Given the description of an element on the screen output the (x, y) to click on. 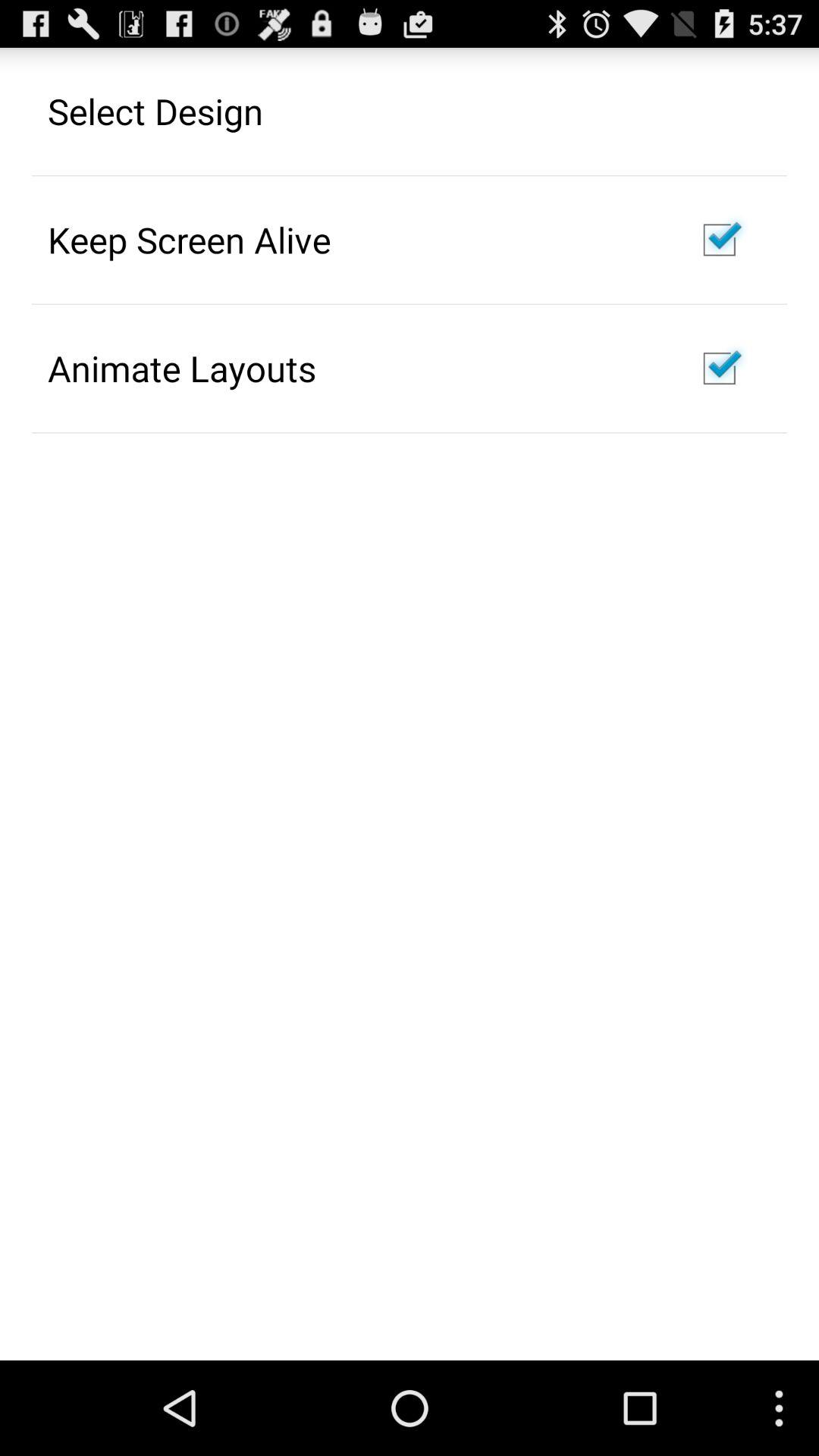
scroll to the animate layouts icon (181, 368)
